Given the description of an element on the screen output the (x, y) to click on. 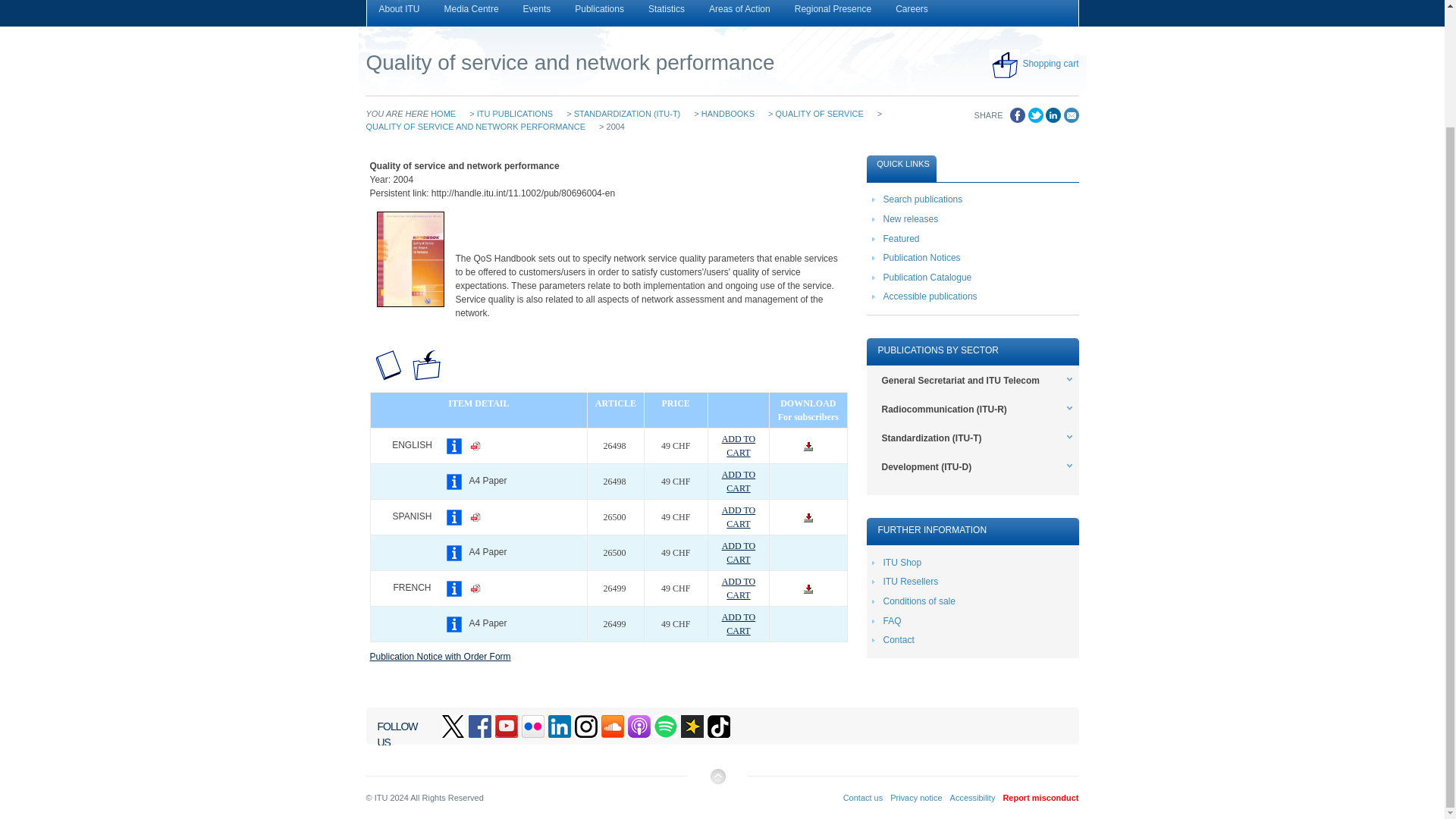
Regional Presence (833, 13)
ITU PUBLICATIONS (515, 112)
PDF format (474, 588)
About ITU (399, 13)
PDF format (474, 445)
HOME (442, 112)
Events (537, 13)
Careers (911, 13)
PDF format (474, 517)
Statistics (666, 13)
Media Centre (471, 13)
Download (807, 588)
Download (807, 446)
Shopping cart (1050, 63)
HANDBOOKS (727, 112)
